Given the description of an element on the screen output the (x, y) to click on. 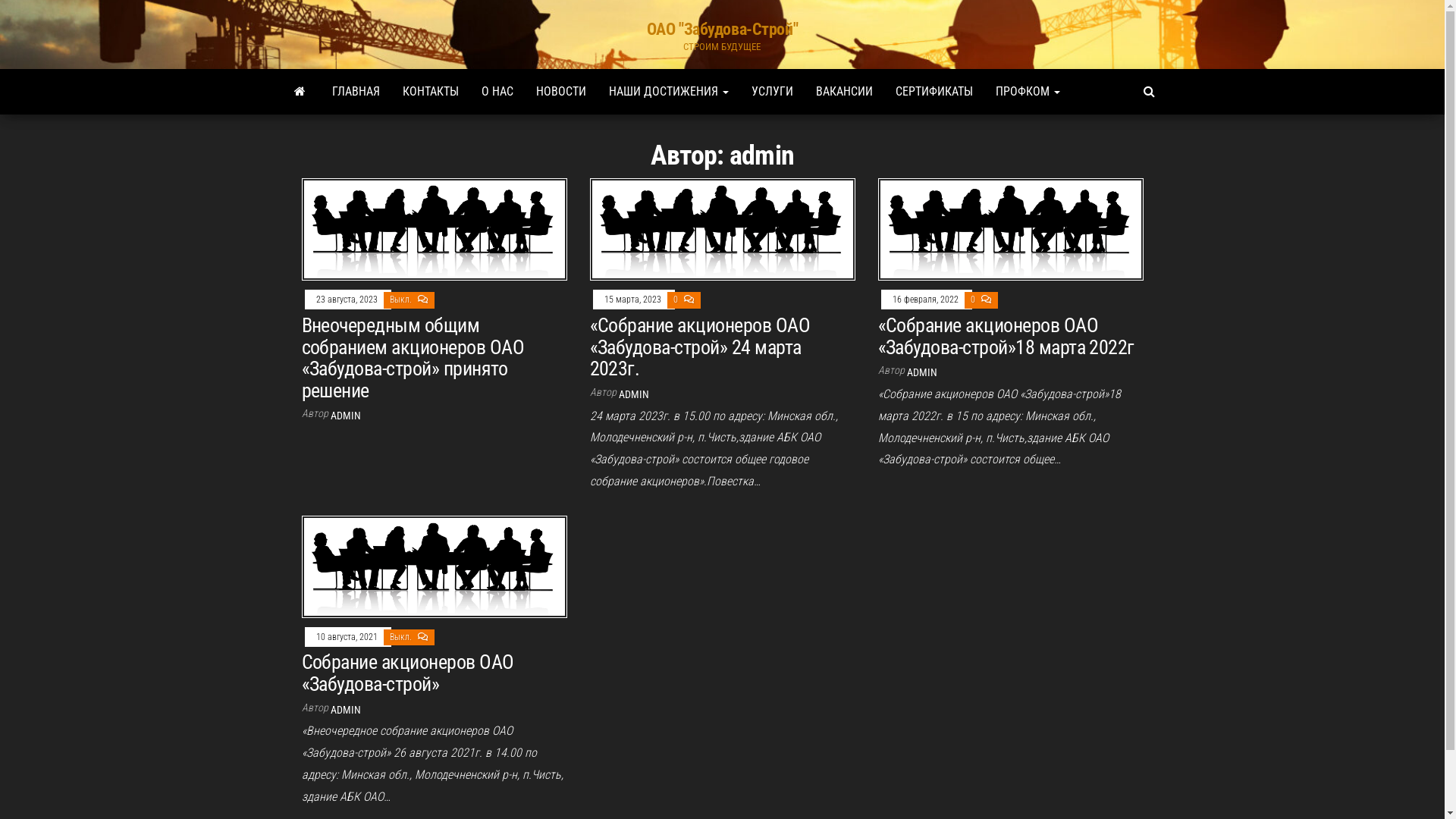
ADMIN Element type: text (345, 709)
0 Element type: text (973, 299)
ADMIN Element type: text (345, 415)
ADMIN Element type: text (921, 372)
0 Element type: text (676, 299)
ADMIN Element type: text (633, 394)
